Given the description of an element on the screen output the (x, y) to click on. 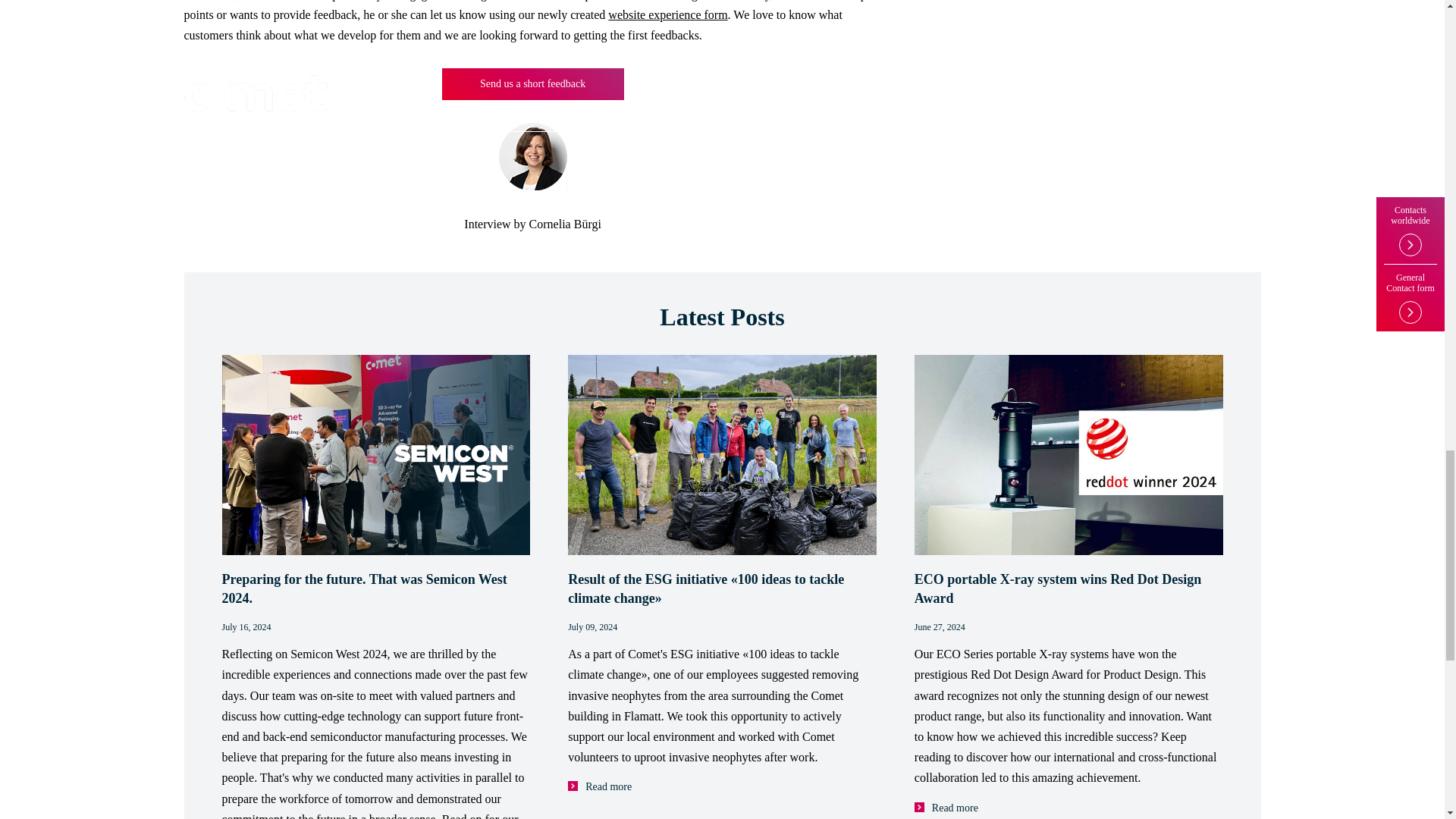
ECO portable X-ray system wins Red Dot Design Award (1068, 589)
Read more (946, 808)
Read more (599, 786)
Preparing for the future. That was Semicon West 2024. (375, 589)
Send us a short feedback (533, 83)
website experience form (667, 14)
